Given the description of an element on the screen output the (x, y) to click on. 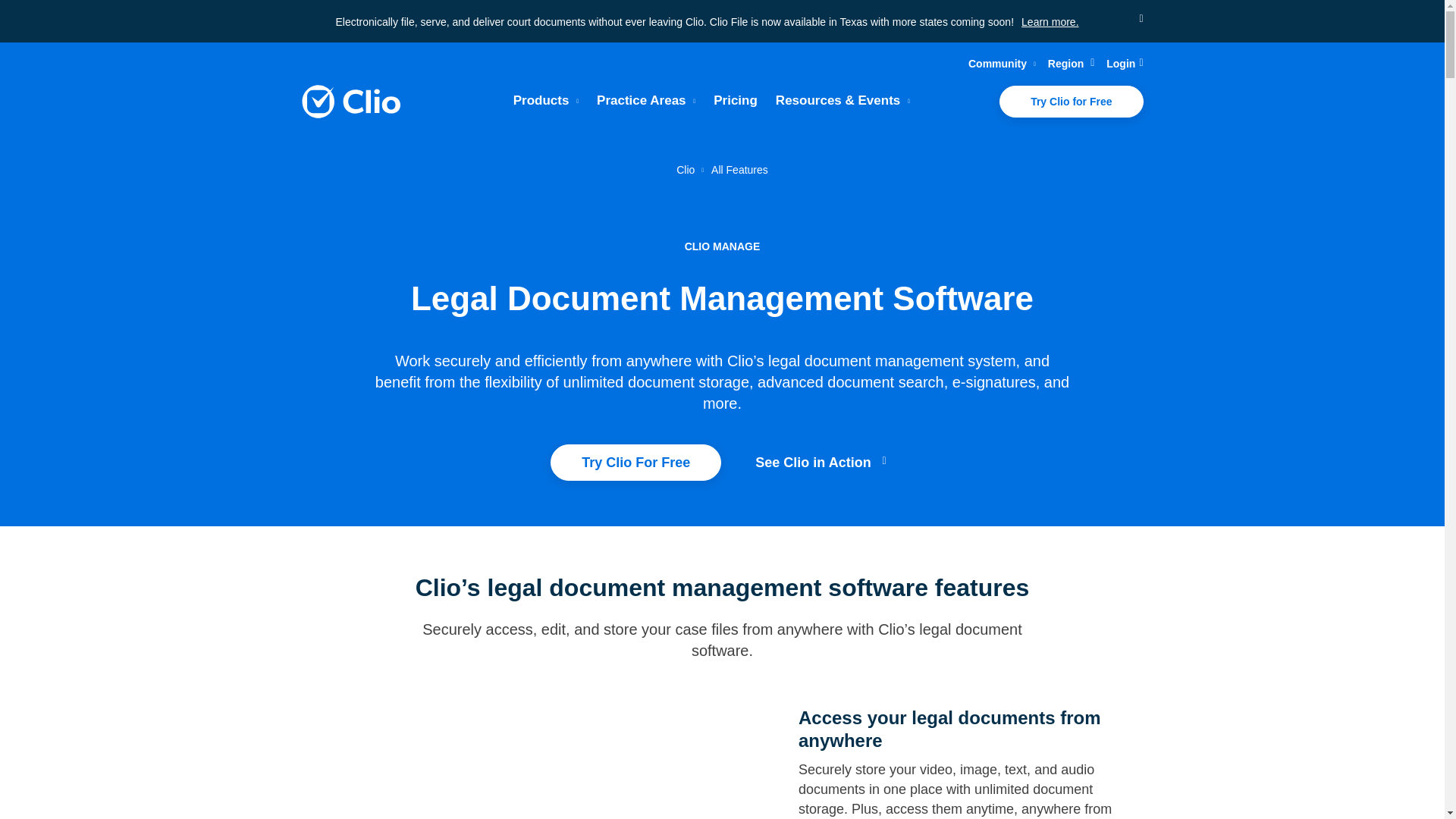
Products (545, 100)
Learn more. (1050, 21)
Community (1001, 63)
Login (1124, 63)
Clio logo (350, 101)
Region (1071, 63)
